Given the description of an element on the screen output the (x, y) to click on. 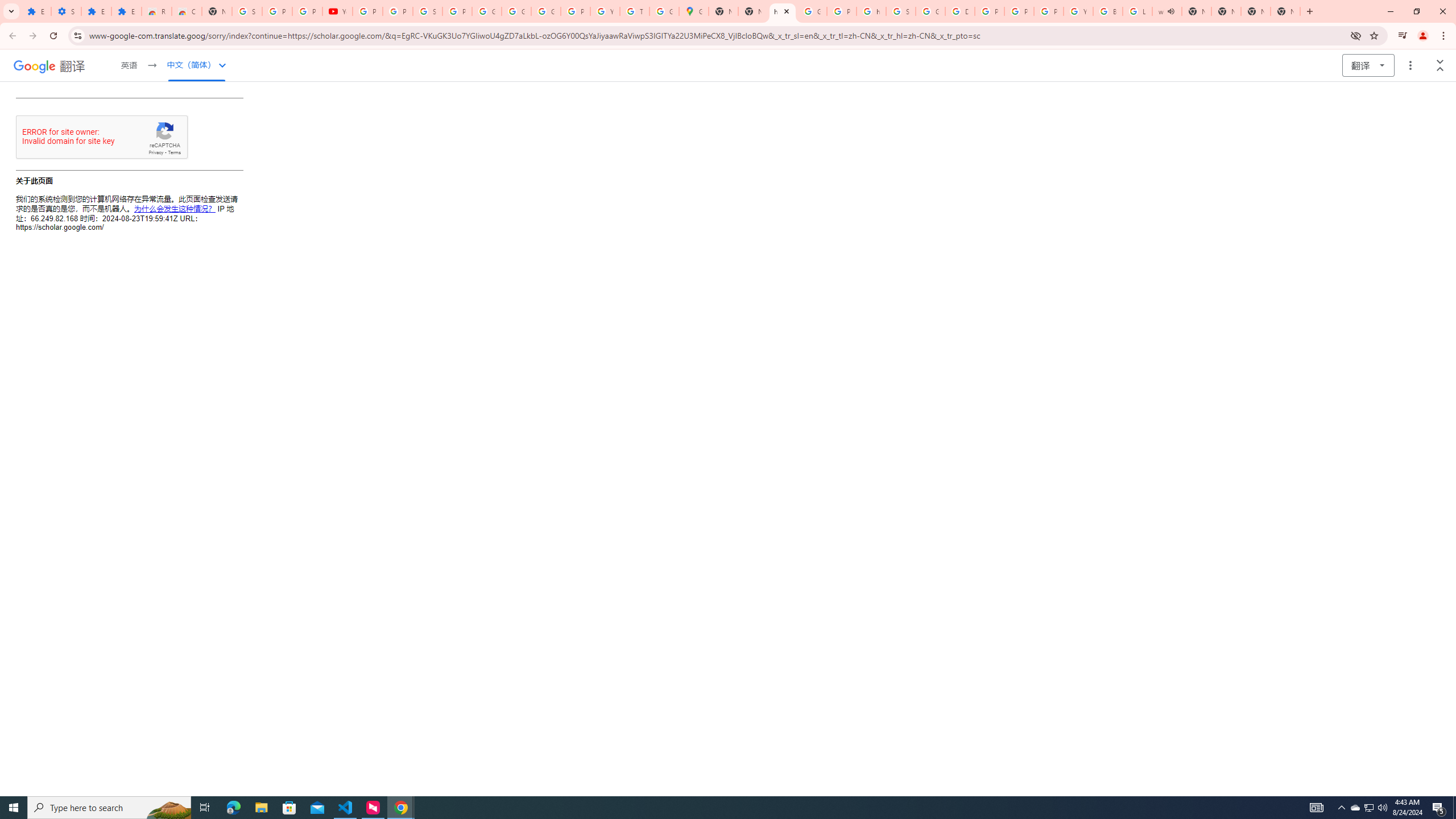
https://scholar.google.com/ (782, 11)
Extensions (95, 11)
Sign in - Google Accounts (247, 11)
https://scholar.google.com/ (871, 11)
